Given the description of an element on the screen output the (x, y) to click on. 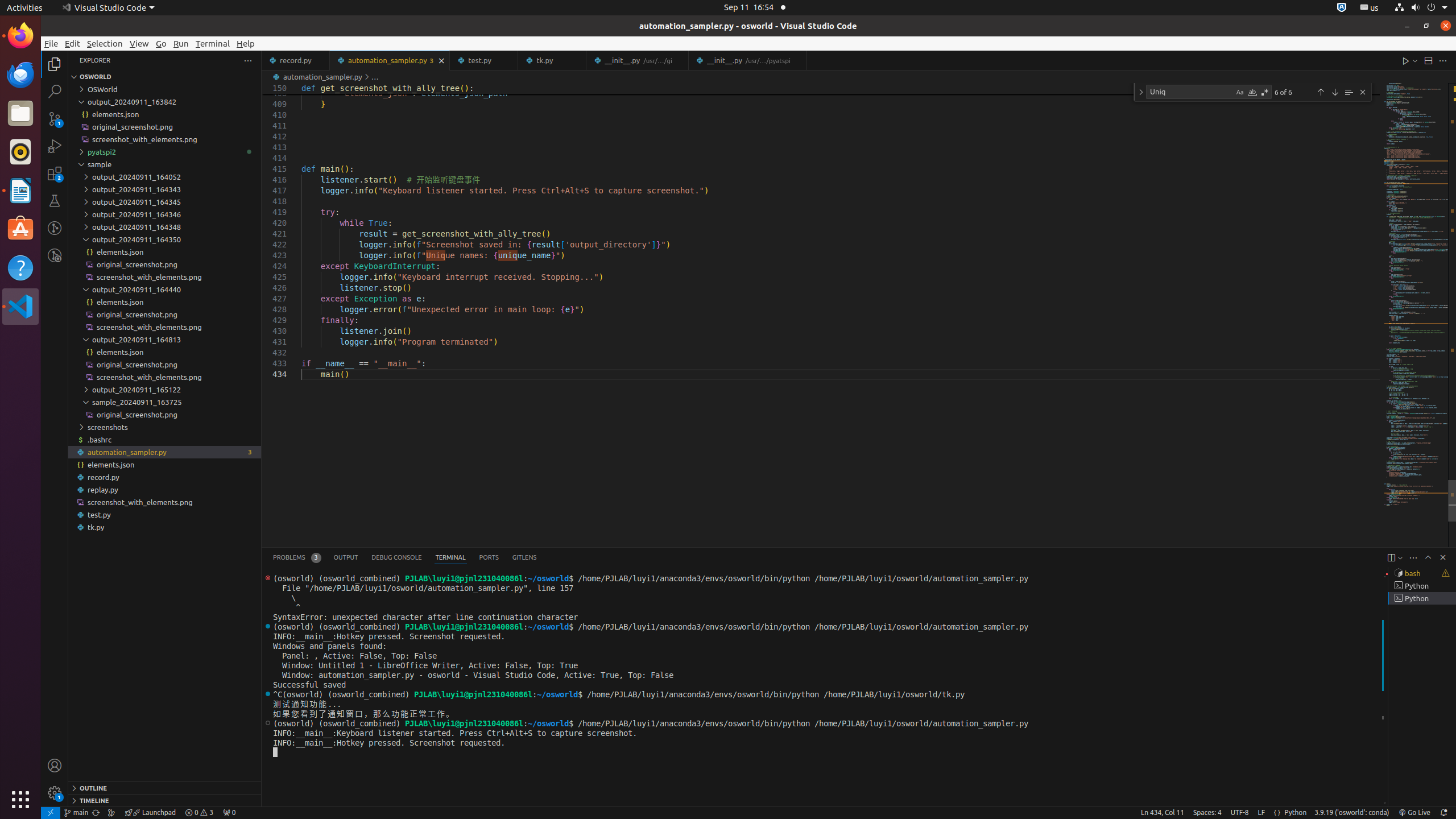
Explorer (Ctrl+Shift+E) Element type: page-tab (54, 63)
File Element type: push-button (50, 43)
sample_20240911_163725 Element type: tree-item (164, 401)
Python Element type: push-button (1295, 812)
Run or Debug... Element type: push-button (1414, 60)
